Given the description of an element on the screen output the (x, y) to click on. 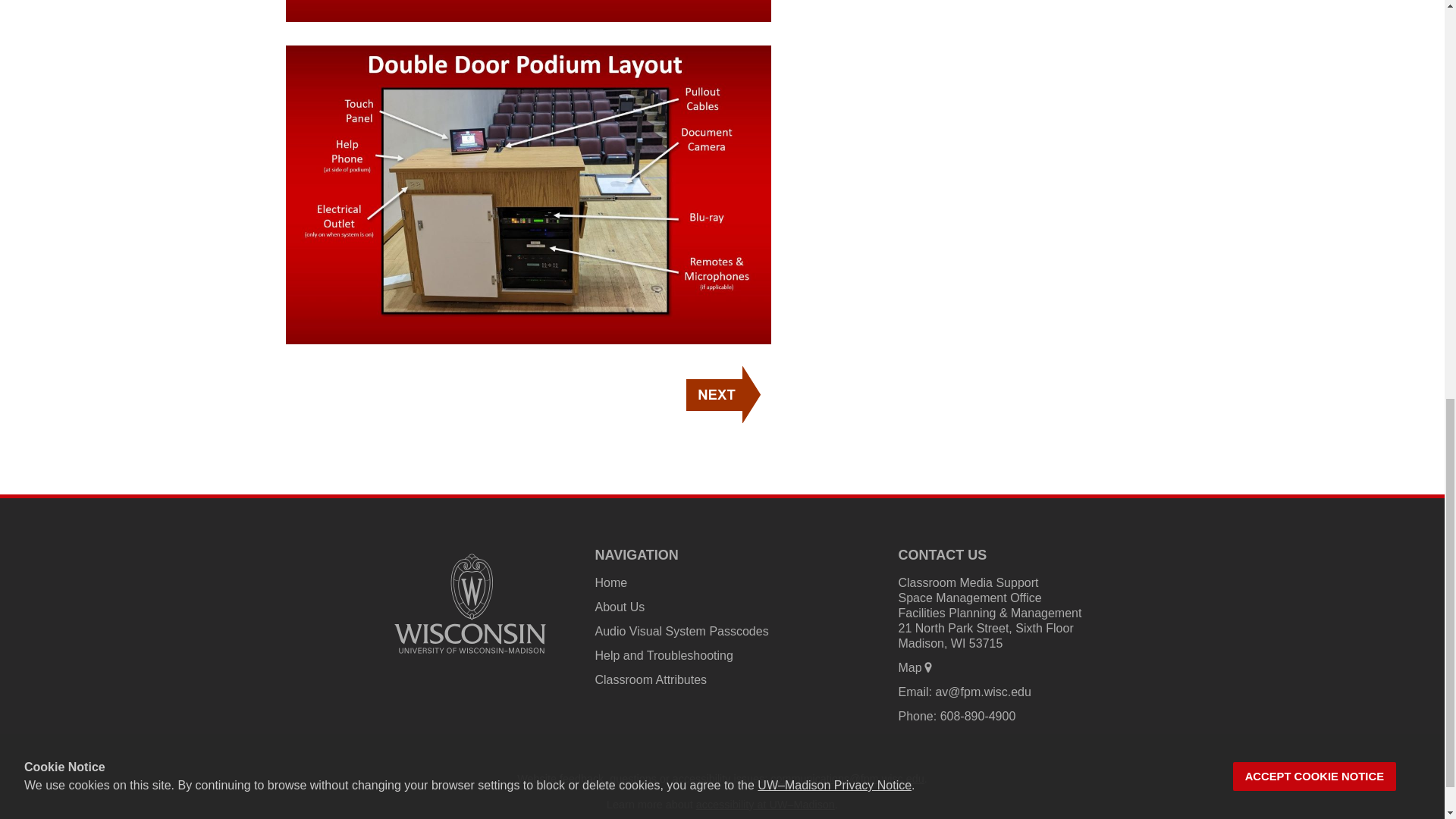
About Us (619, 606)
Classroom Attributes (650, 679)
Map map marker (915, 667)
University logo that links to main university website (470, 656)
Home (610, 582)
University logo that links to main university website (470, 603)
map marker (927, 666)
Audio Visual System Passcodes (681, 631)
608-890-4900 (978, 716)
Help and Troubleshooting (663, 655)
